Given the description of an element on the screen output the (x, y) to click on. 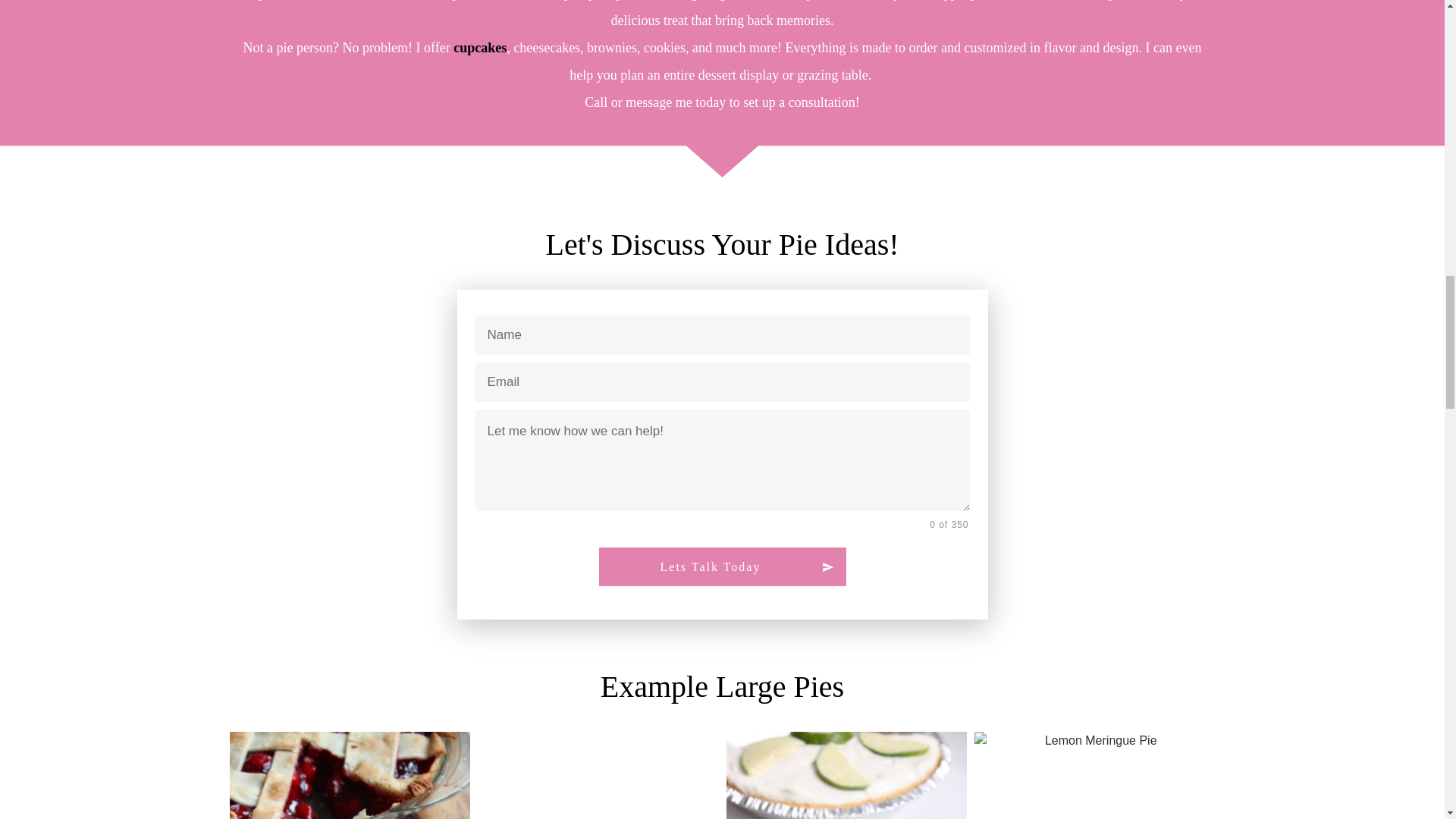
Key Lime Pie (847, 775)
easy pie recipes (1094, 775)
Cherry Lattice Pies (349, 775)
Dutch Apple Pie (598, 775)
Lets Talk Today (721, 566)
cupcakes (479, 47)
